Given the description of an element on the screen output the (x, y) to click on. 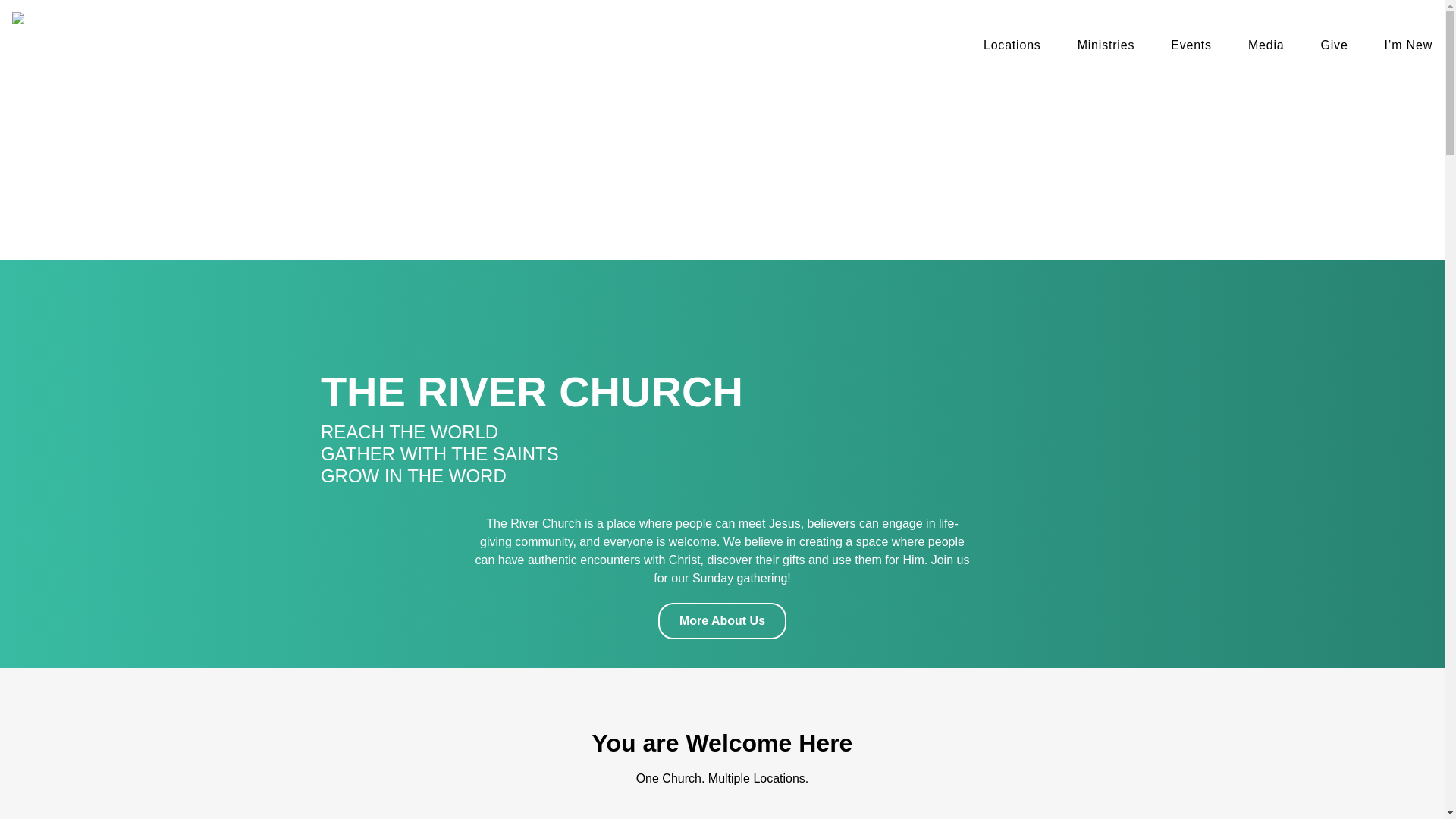
More About Us Element type: text (722, 620)
Media Element type: text (1266, 48)
Give Element type: text (1334, 48)
Ministries Element type: text (1106, 48)
Events Element type: text (1190, 48)
Locations Element type: text (1012, 48)
